Given the description of an element on the screen output the (x, y) to click on. 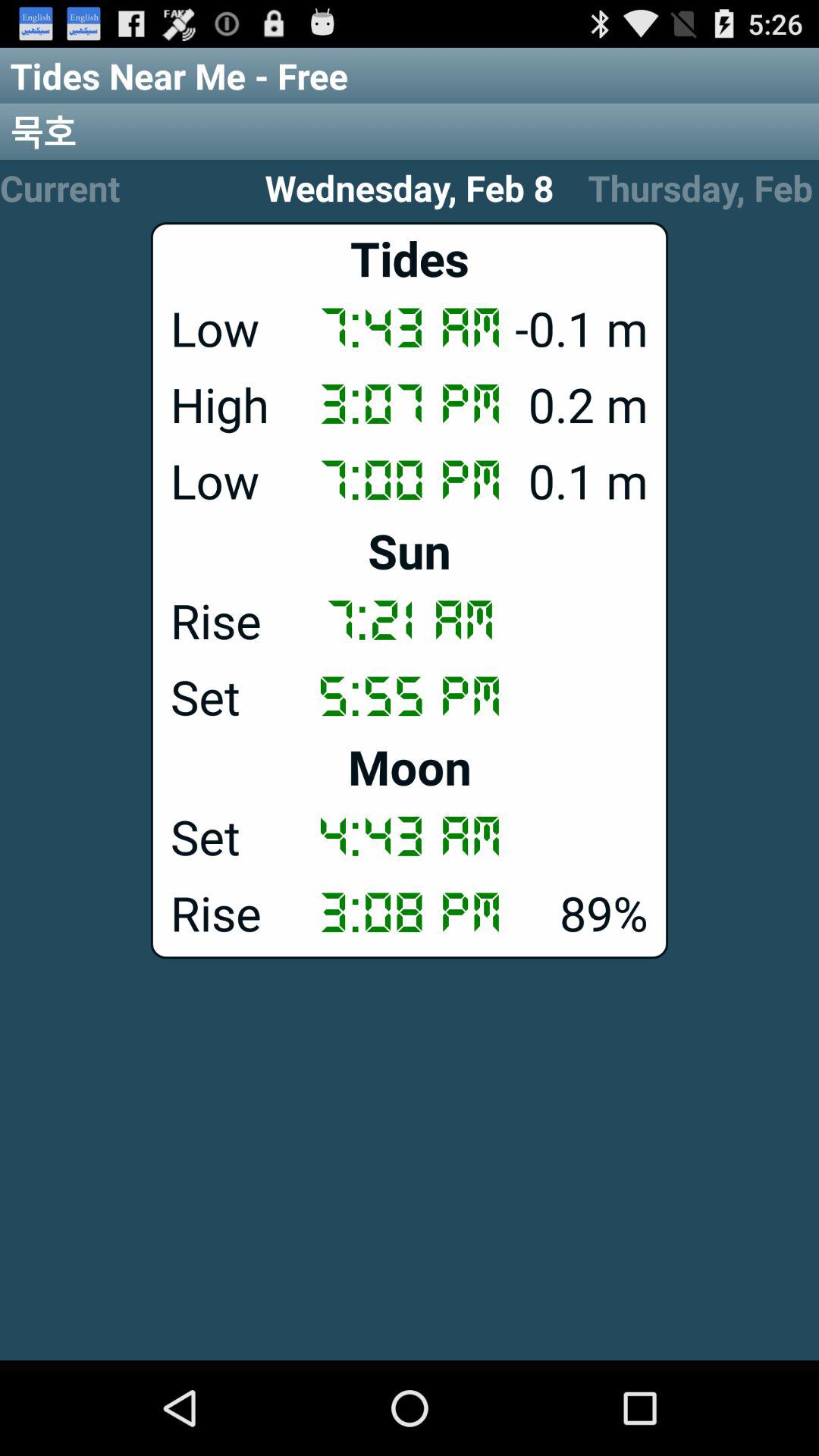
select item below the rise icon (409, 695)
